Given the description of an element on the screen output the (x, y) to click on. 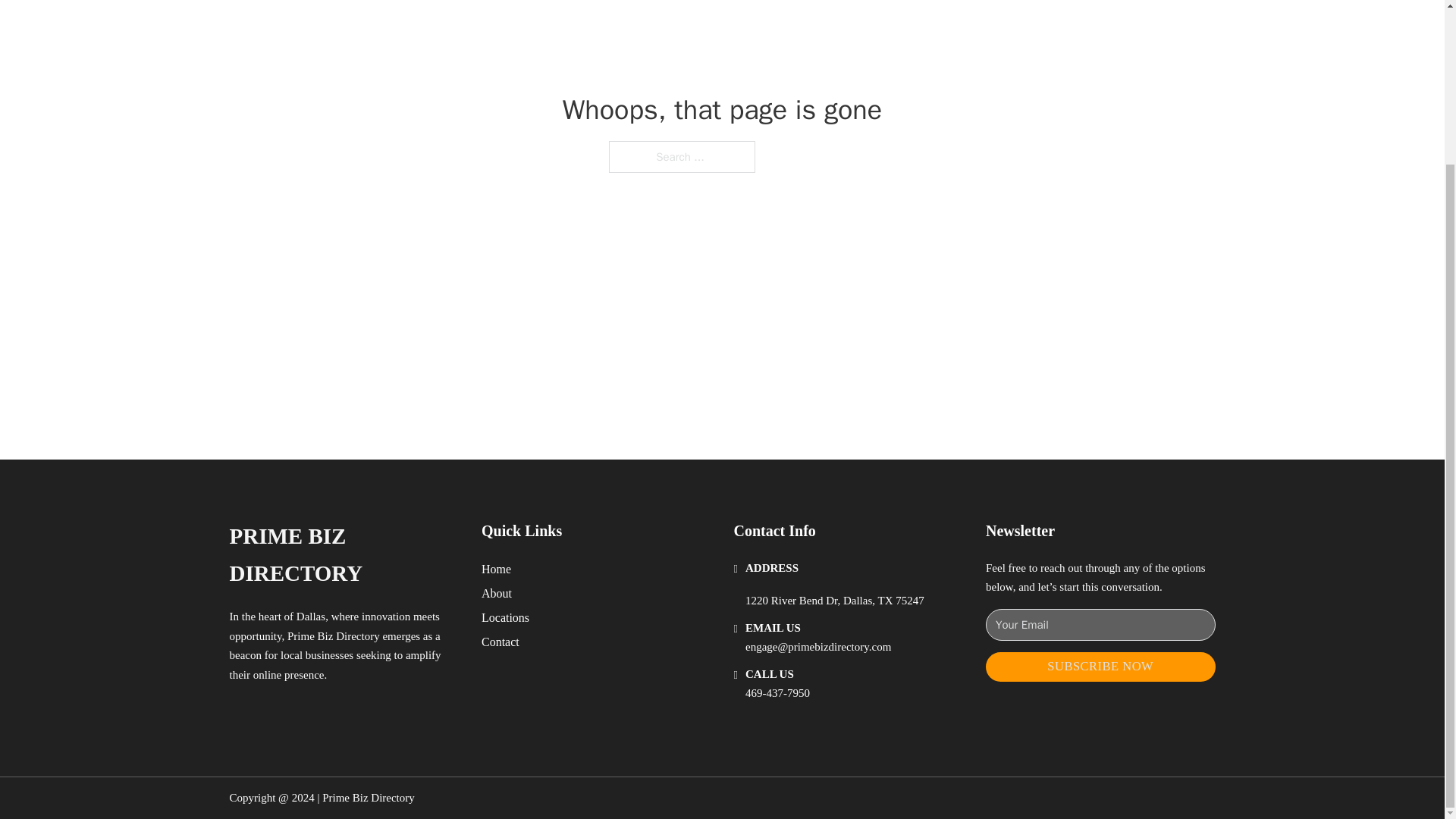
SUBSCRIBE NOW (1100, 666)
Contact (500, 641)
PRIME BIZ DIRECTORY (343, 554)
About (496, 593)
Home (496, 568)
469-437-7950 (777, 693)
Locations (505, 617)
